Given the description of an element on the screen output the (x, y) to click on. 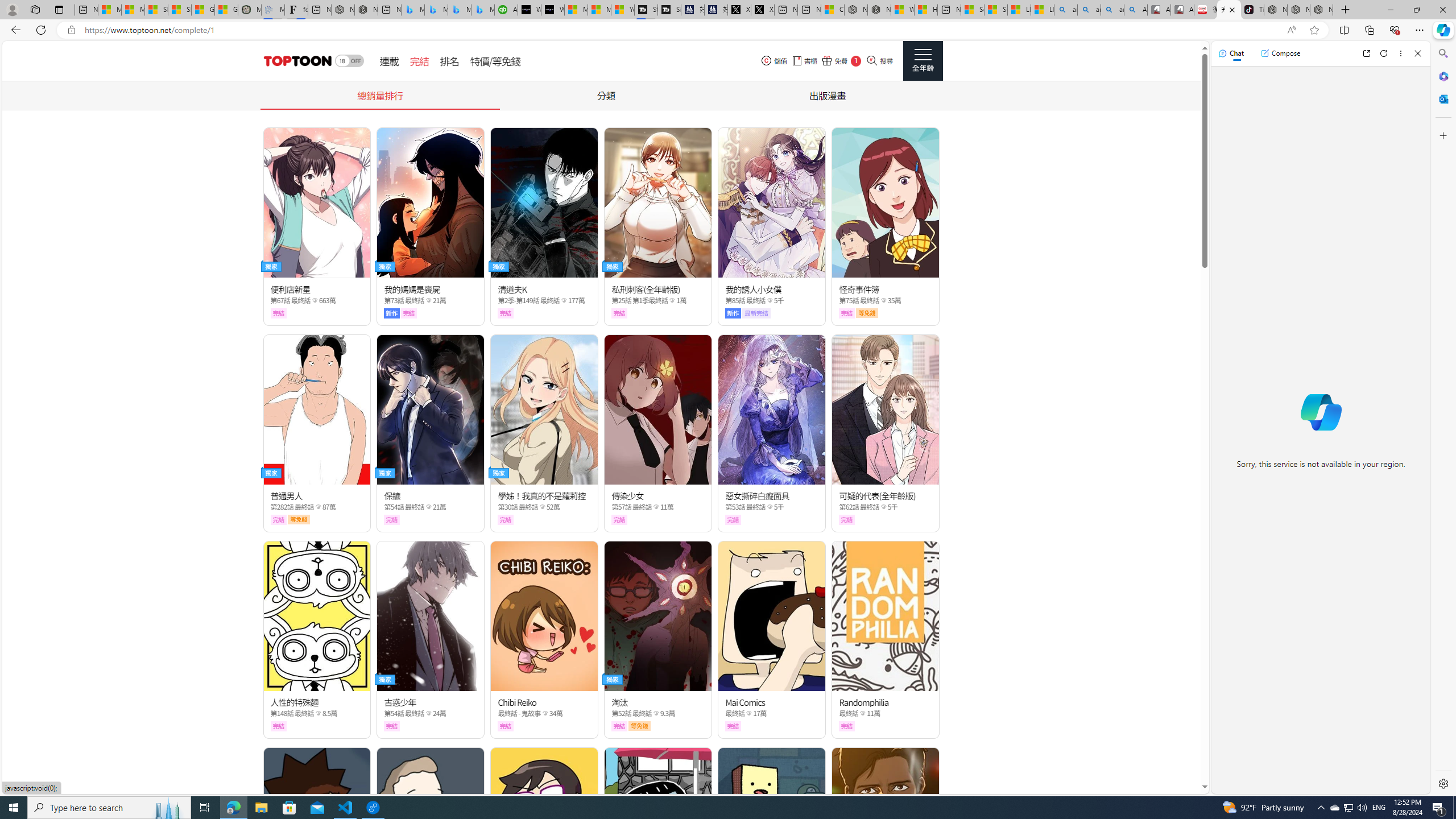
Class: side_menu_btn actionRightMenuBtn (922, 60)
Accounting Software for Accountants, CPAs and Bookkeepers (505, 9)
